Given the description of an element on the screen output the (x, y) to click on. 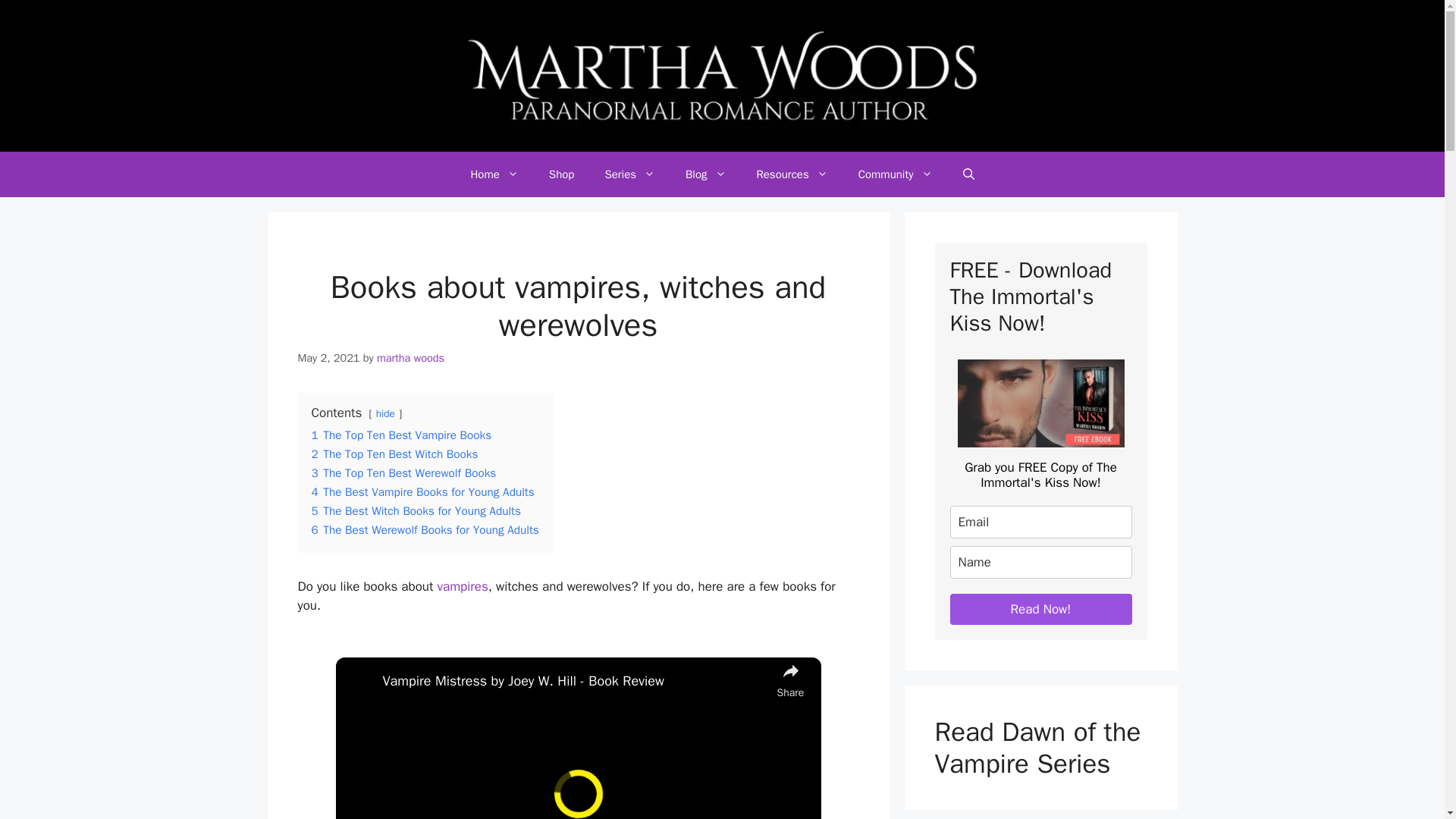
Resources (792, 174)
Blog (705, 174)
Shop (561, 174)
View all posts by martha woods (410, 357)
Home (493, 174)
Community (895, 174)
Series (629, 174)
